Given the description of an element on the screen output the (x, y) to click on. 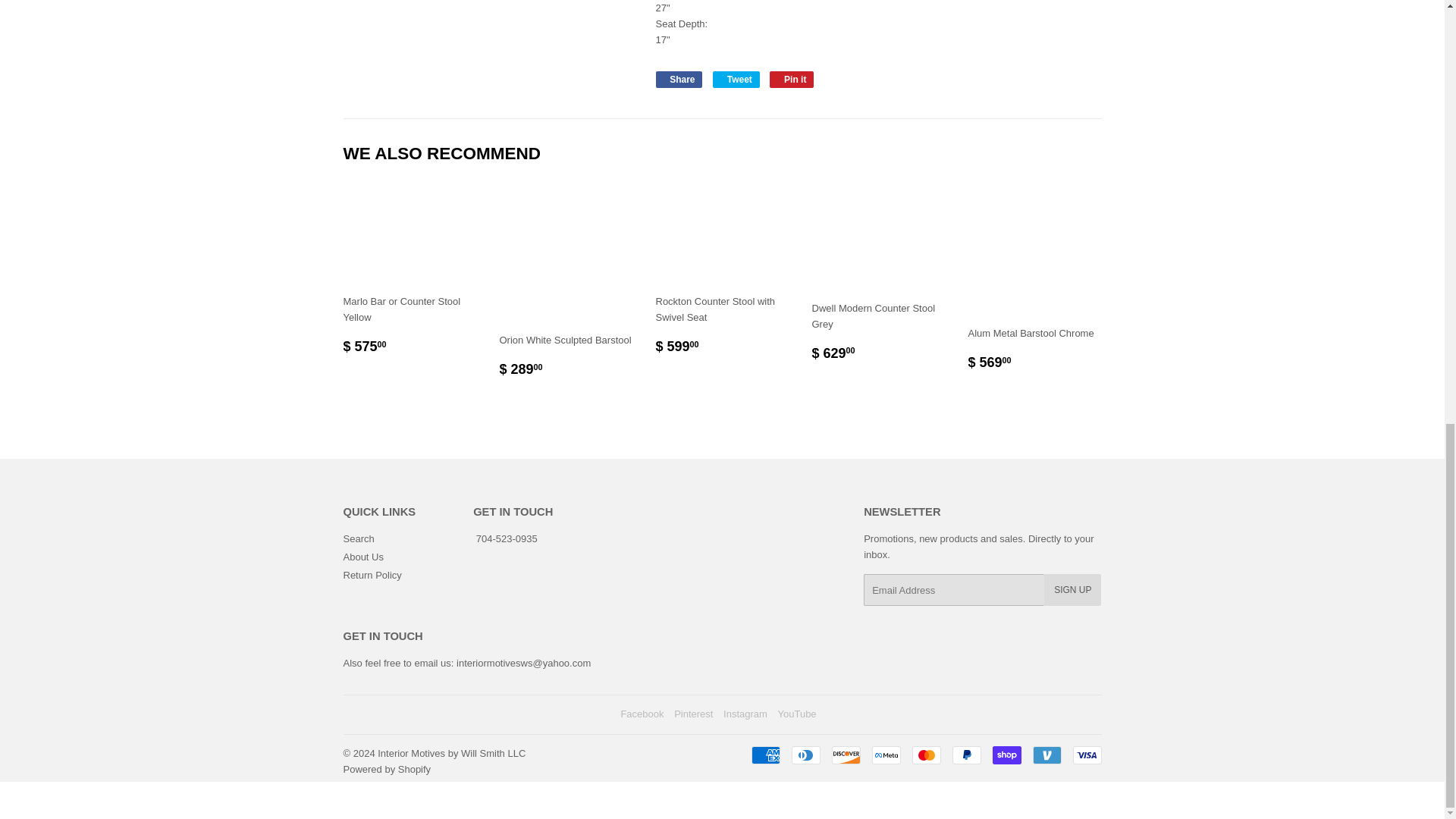
Interior Motives by Will Smith LLC on YouTube (736, 79)
Discover (796, 713)
Search (845, 755)
Interior Motives by Will Smith LLC on Facebook (358, 538)
Interior Motives by Will Smith LLC on Pinterest (641, 713)
Tweet on Twitter (693, 713)
Shop Pay (736, 79)
Interior Motives by Will Smith LLC on Instagram (1005, 755)
Share on Facebook (745, 713)
